Given the description of an element on the screen output the (x, y) to click on. 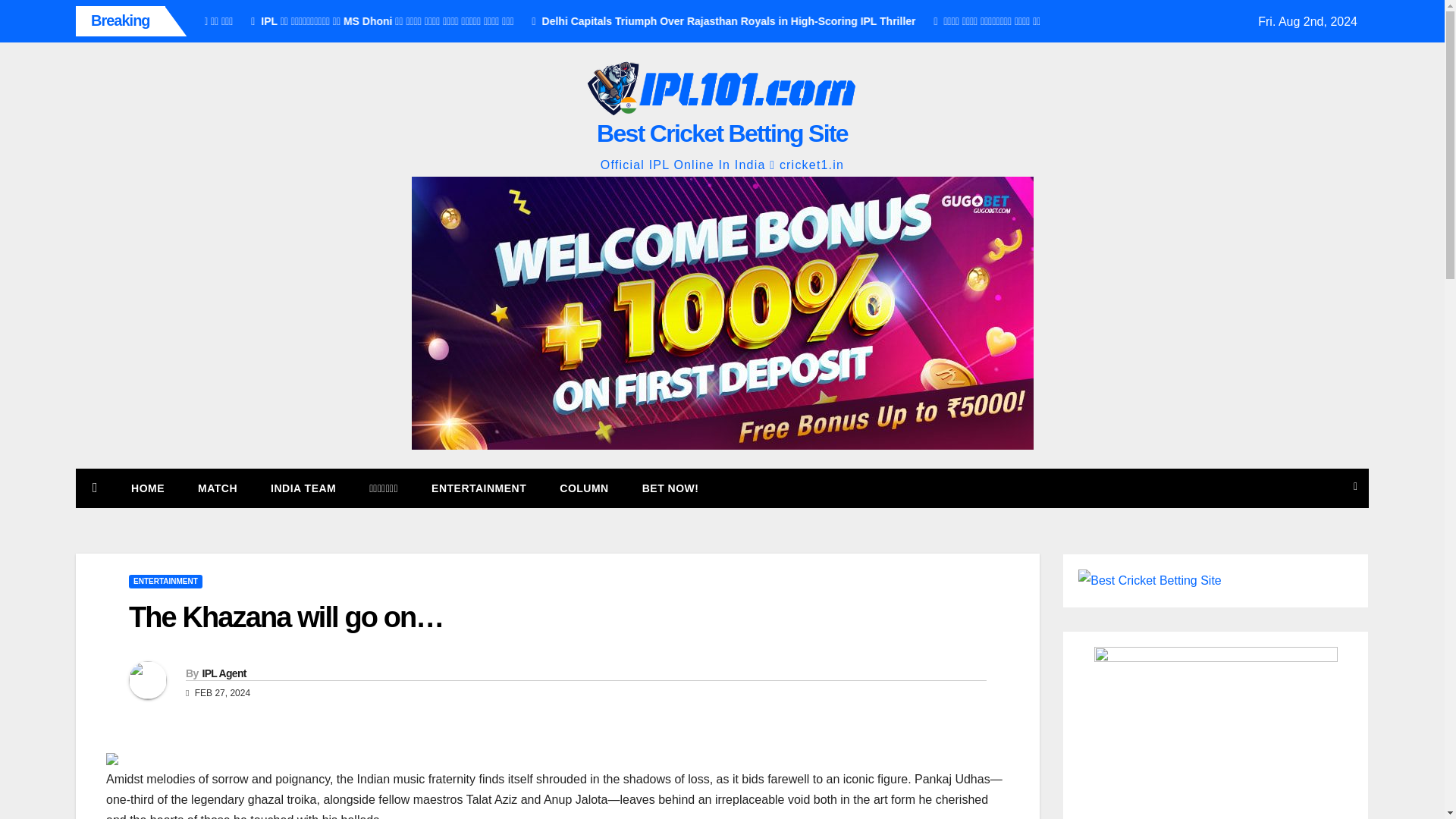
Match (216, 487)
ENTERTAINMENT (165, 581)
MATCH (216, 487)
India Team (302, 487)
Column (583, 487)
Home (147, 487)
Entertainment (478, 487)
Bet Now! (671, 487)
Best Cricket Betting Site (721, 133)
ENTERTAINMENT (478, 487)
INDIA TEAM (302, 487)
BET NOW! (671, 487)
COLUMN (583, 487)
HOME (147, 487)
